Given the description of an element on the screen output the (x, y) to click on. 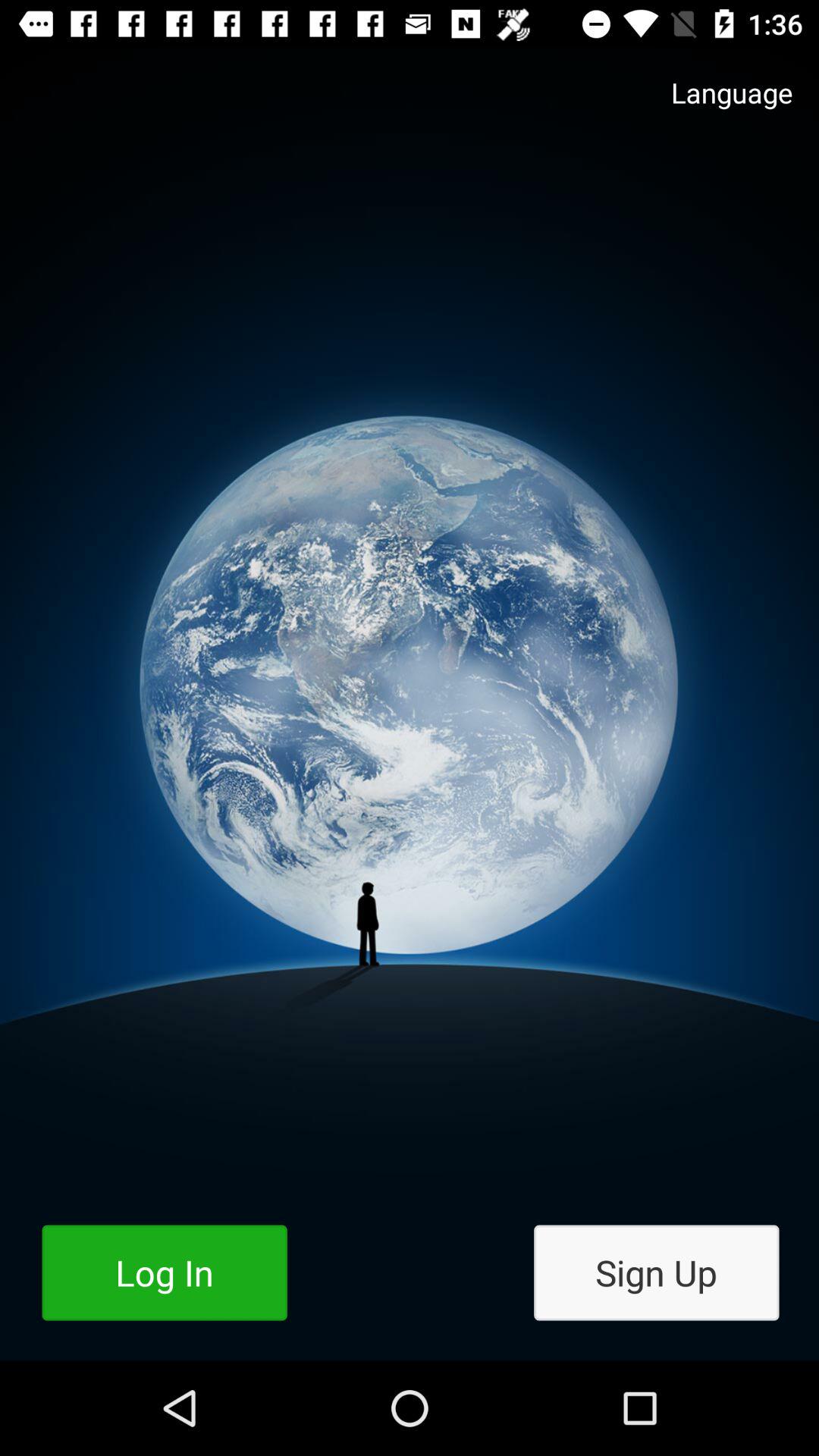
press item to the right of the log in icon (656, 1272)
